Given the description of an element on the screen output the (x, y) to click on. 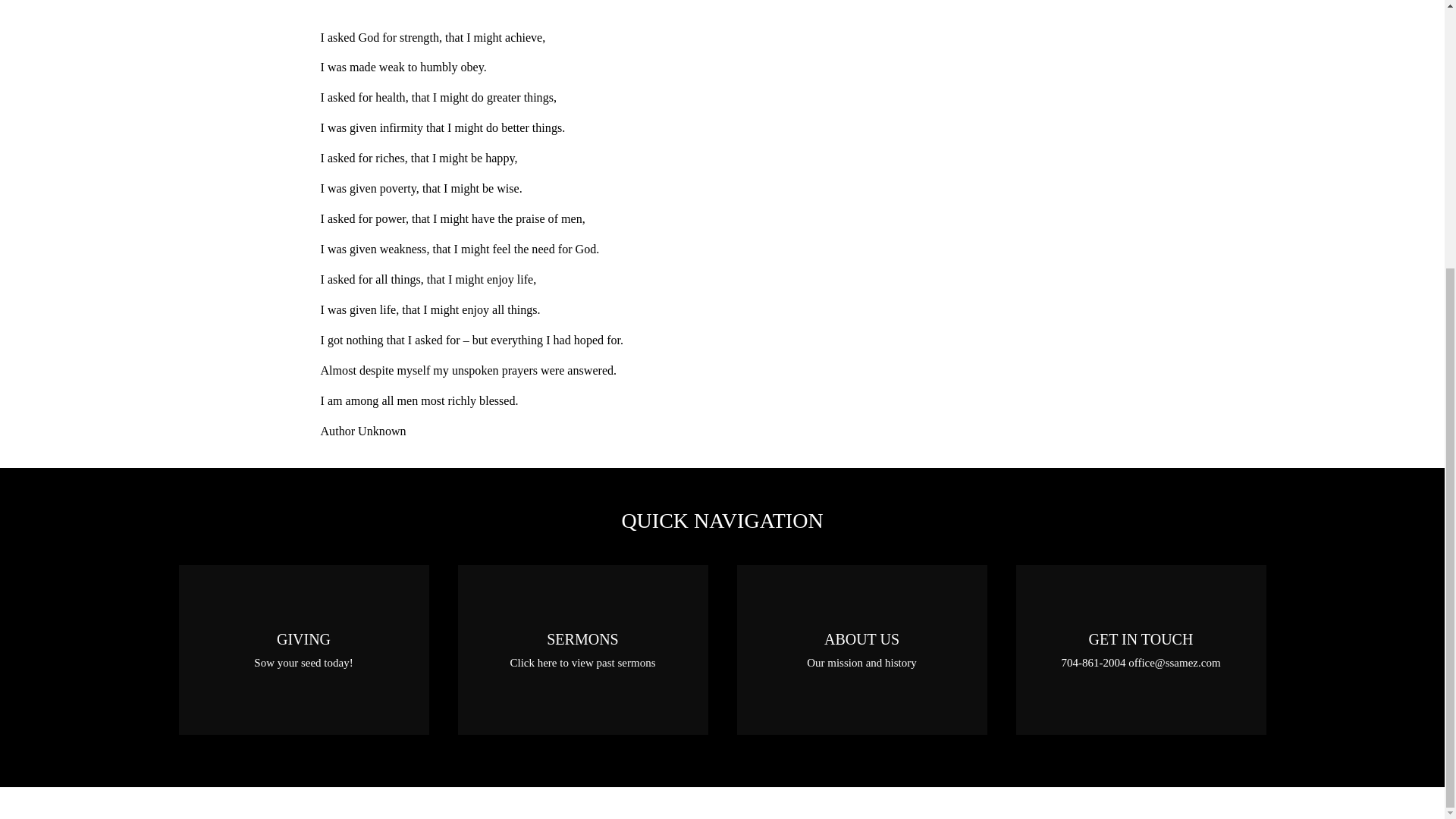
ABOUT US (861, 649)
GET IN TOUCH (1141, 649)
SERMONS (582, 649)
GIVING (304, 649)
